Given the description of an element on the screen output the (x, y) to click on. 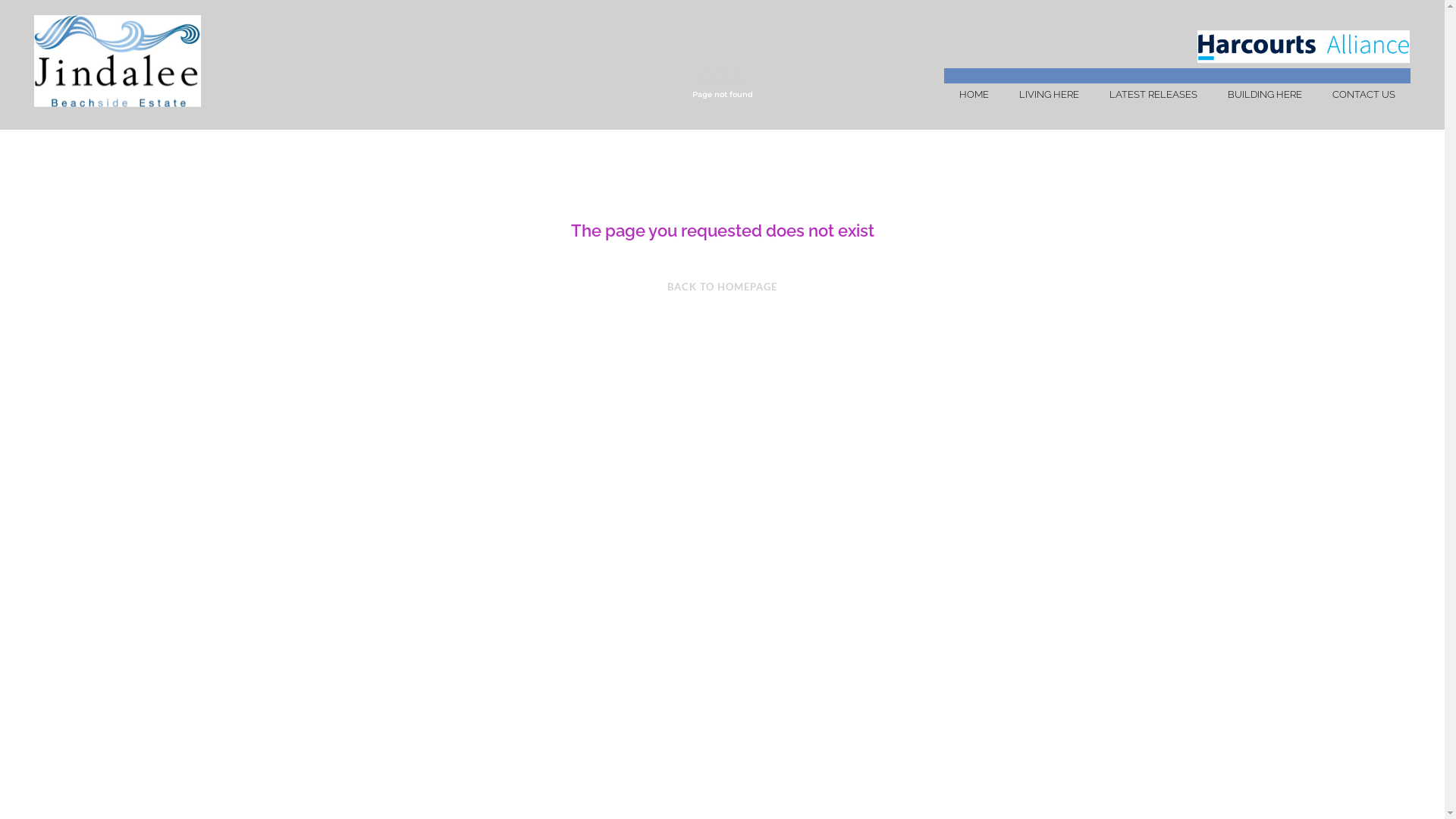
LATEST RELEASES Element type: text (1153, 94)
LIVING HERE Element type: text (1049, 94)
BACK TO HOMEPAGE Element type: text (721, 286)
CONTACT US Element type: text (1363, 94)
BUILDING HERE Element type: text (1264, 94)
HOME Element type: text (974, 94)
